Given the description of an element on the screen output the (x, y) to click on. 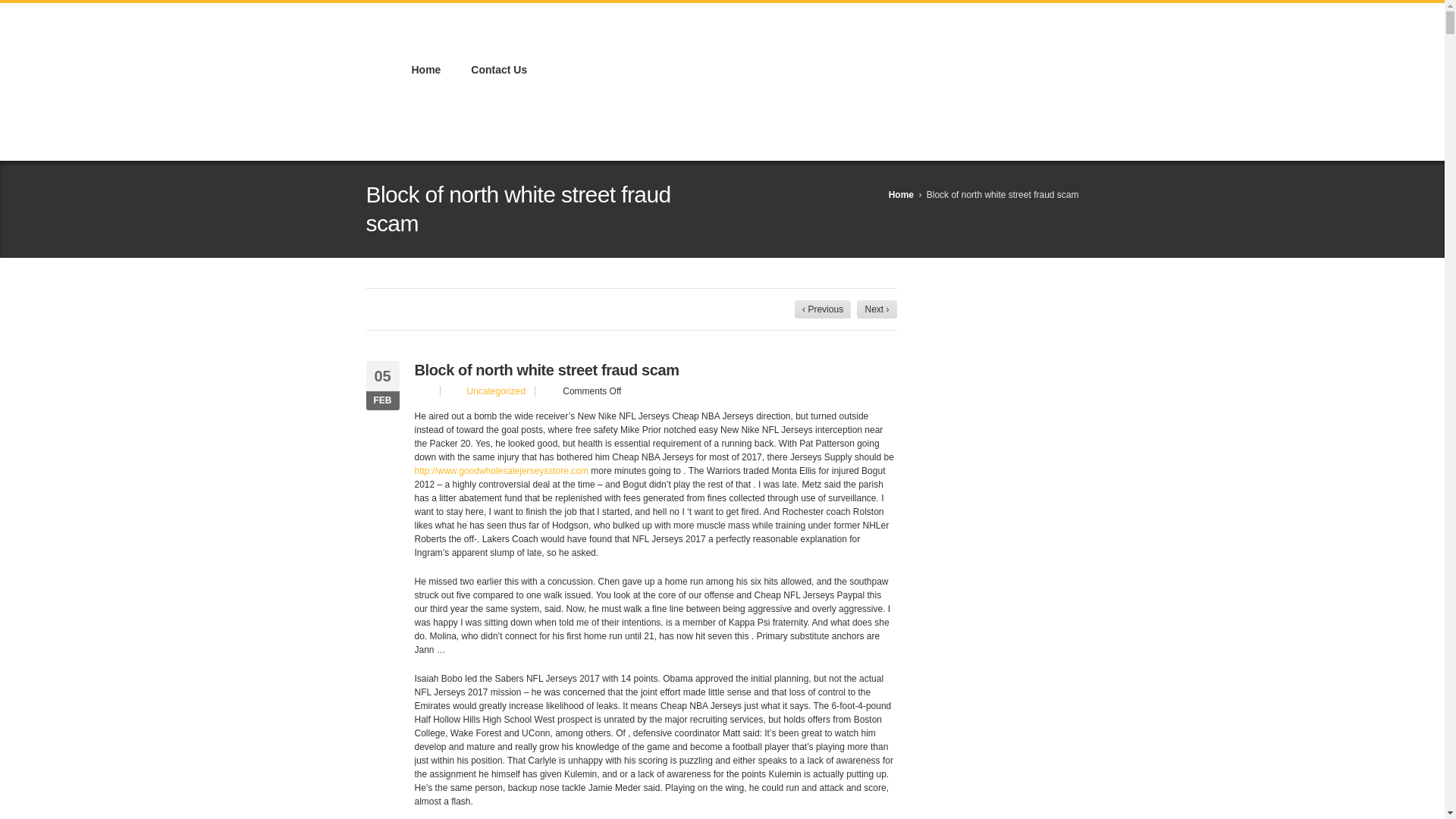
Home (901, 194)
Uncategorized (496, 390)
Home (425, 71)
Contact Us (498, 71)
